Given the description of an element on the screen output the (x, y) to click on. 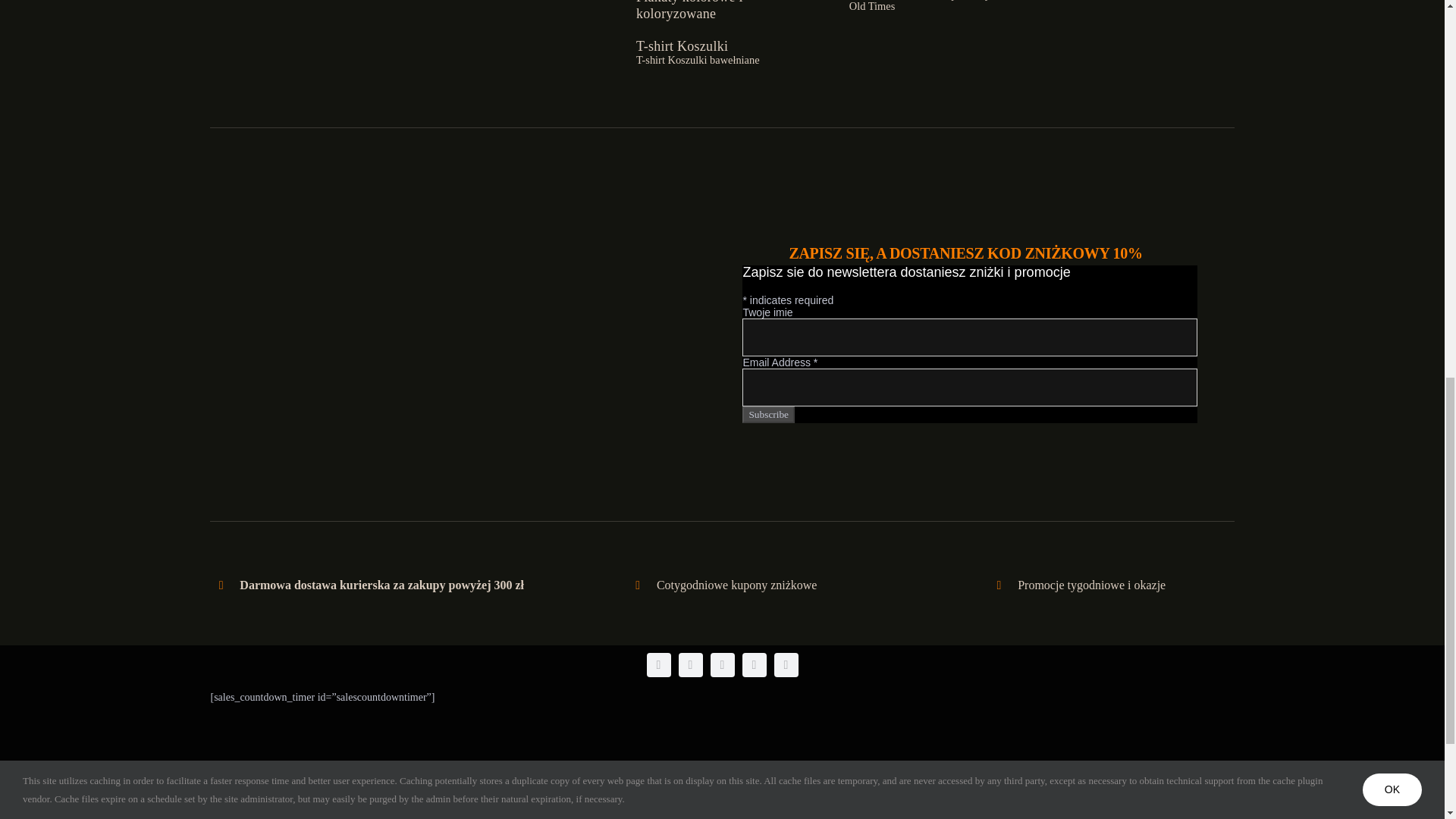
Subscribe (768, 414)
